Given the description of an element on the screen output the (x, y) to click on. 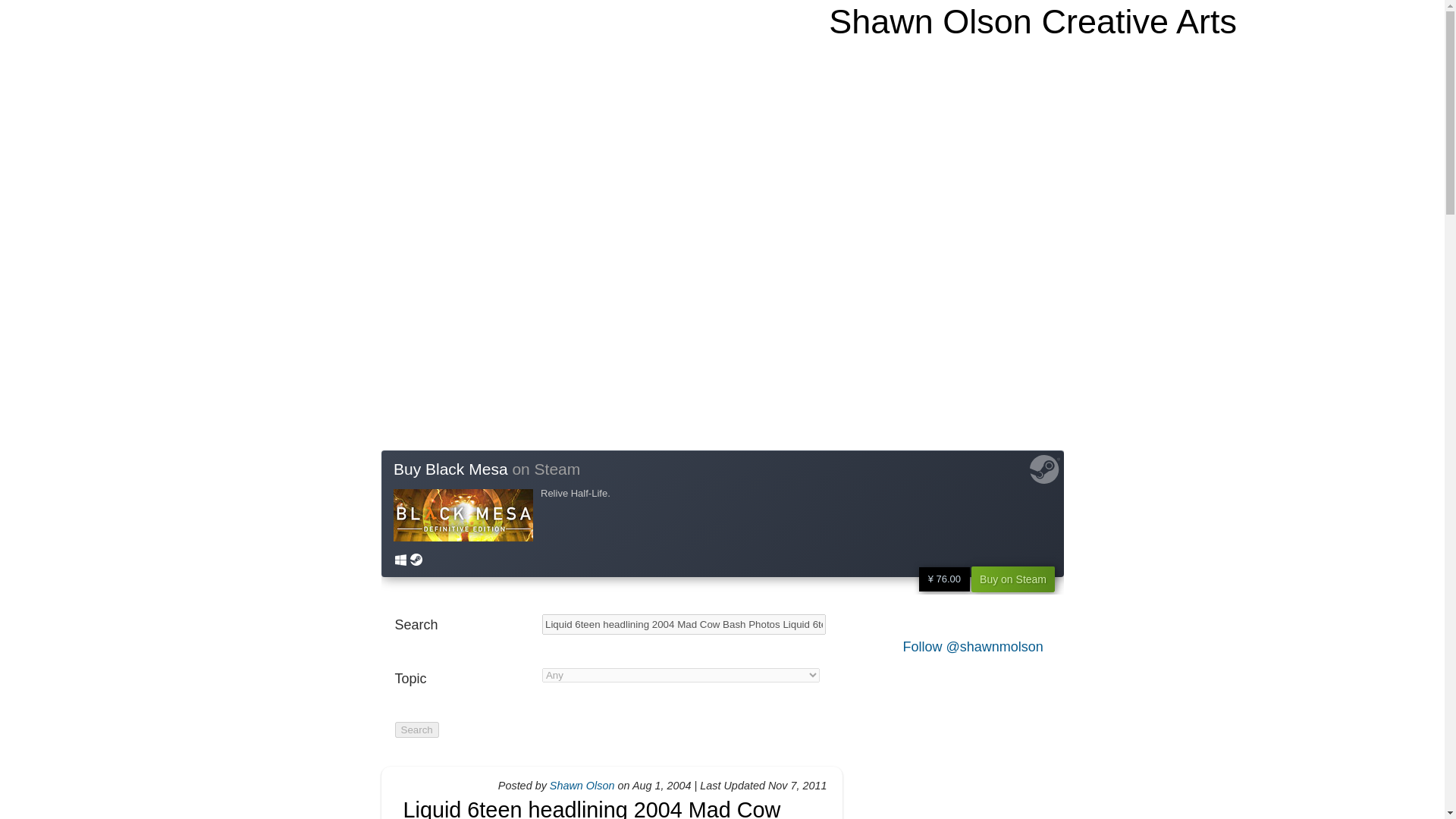
Search (416, 729)
Shawn Olson (582, 785)
Search (416, 729)
Max 255 Characters (683, 624)
Liquid 6teen headlining 2004 Mad Cow Bash (591, 808)
Max 255 Characters (463, 624)
